Given the description of an element on the screen output the (x, y) to click on. 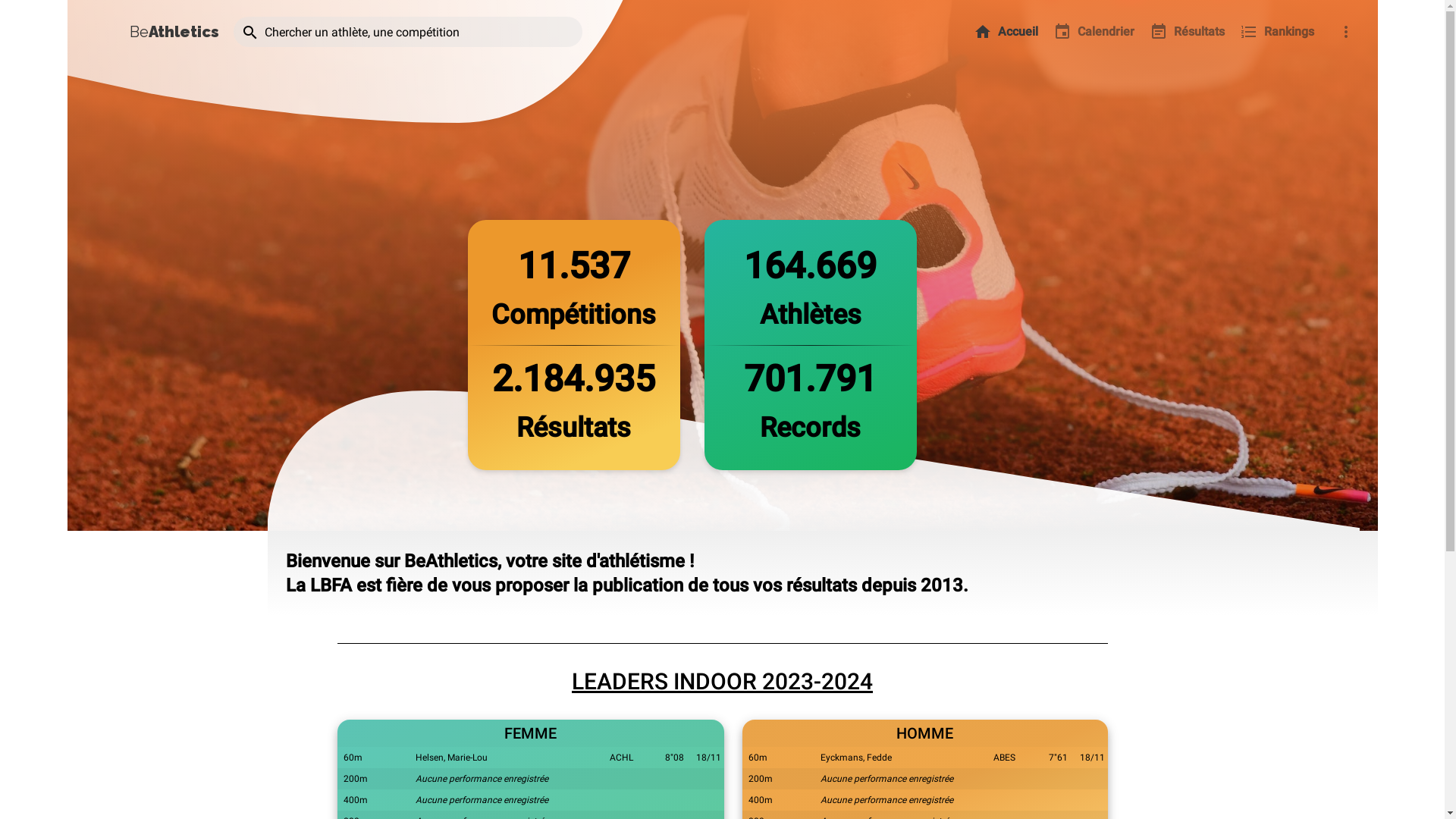
event
Calendrier Element type: text (1092, 31)
format_list_numbered
Rankings Element type: text (1276, 31)
18/11 Element type: text (708, 757)
BeAthletics Element type: text (173, 32)
Eyckmans, Fedde Element type: text (855, 757)
Helsen, Marie-Lou Element type: text (451, 757)
18/11 Element type: text (1091, 757)
more_vert Element type: text (1344, 31)
search Element type: text (250, 32)
home
Accueil Element type: text (1005, 31)
